Given the description of an element on the screen output the (x, y) to click on. 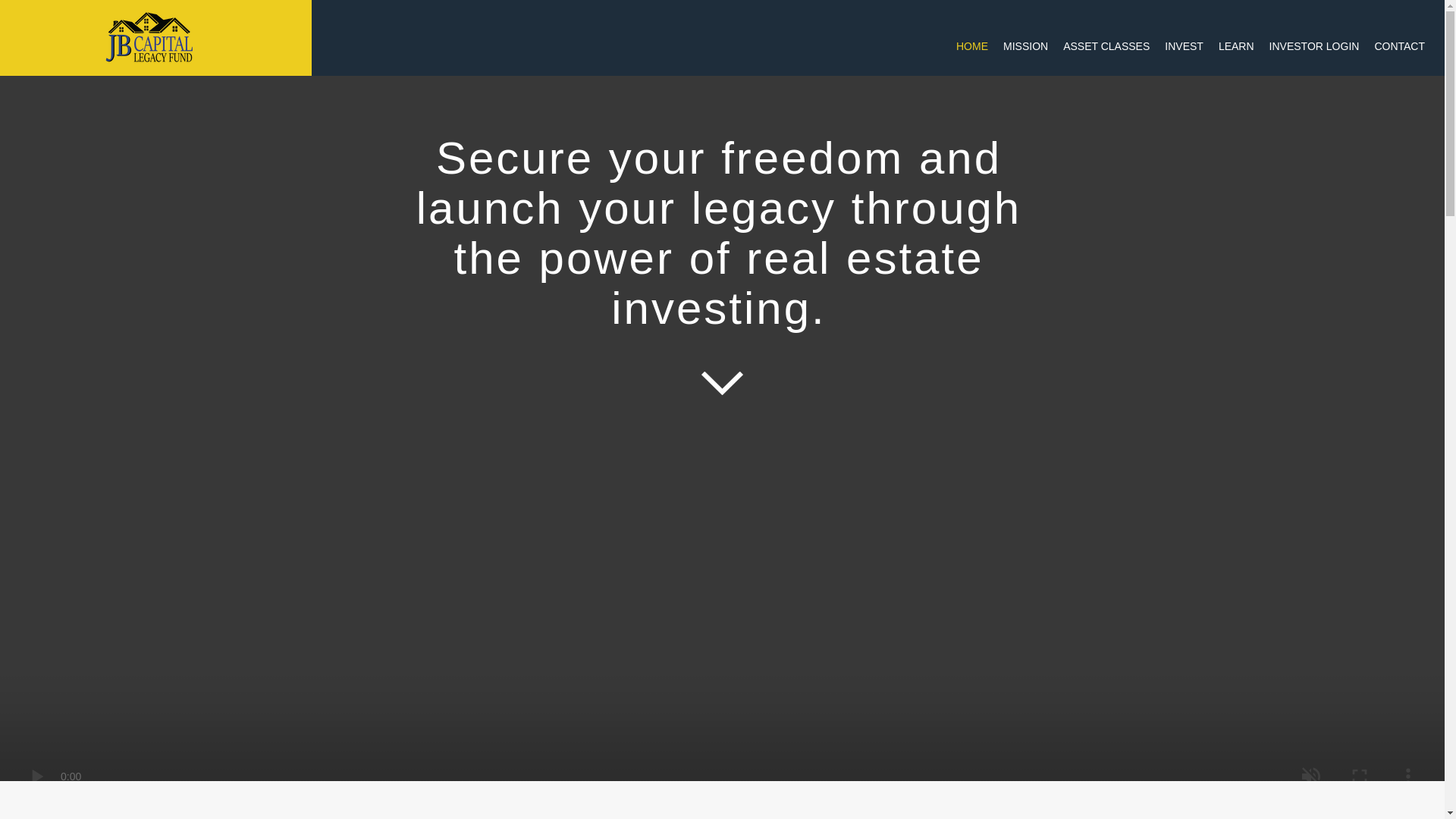
INVESTOR LOGIN (1314, 46)
LEARN (1236, 46)
CONTACT (1399, 46)
Final-LegacyPNG.png (149, 36)
HOME (972, 46)
INVEST (1184, 46)
ASSET CLASSES (1106, 46)
MISSION (1025, 46)
